Given the description of an element on the screen output the (x, y) to click on. 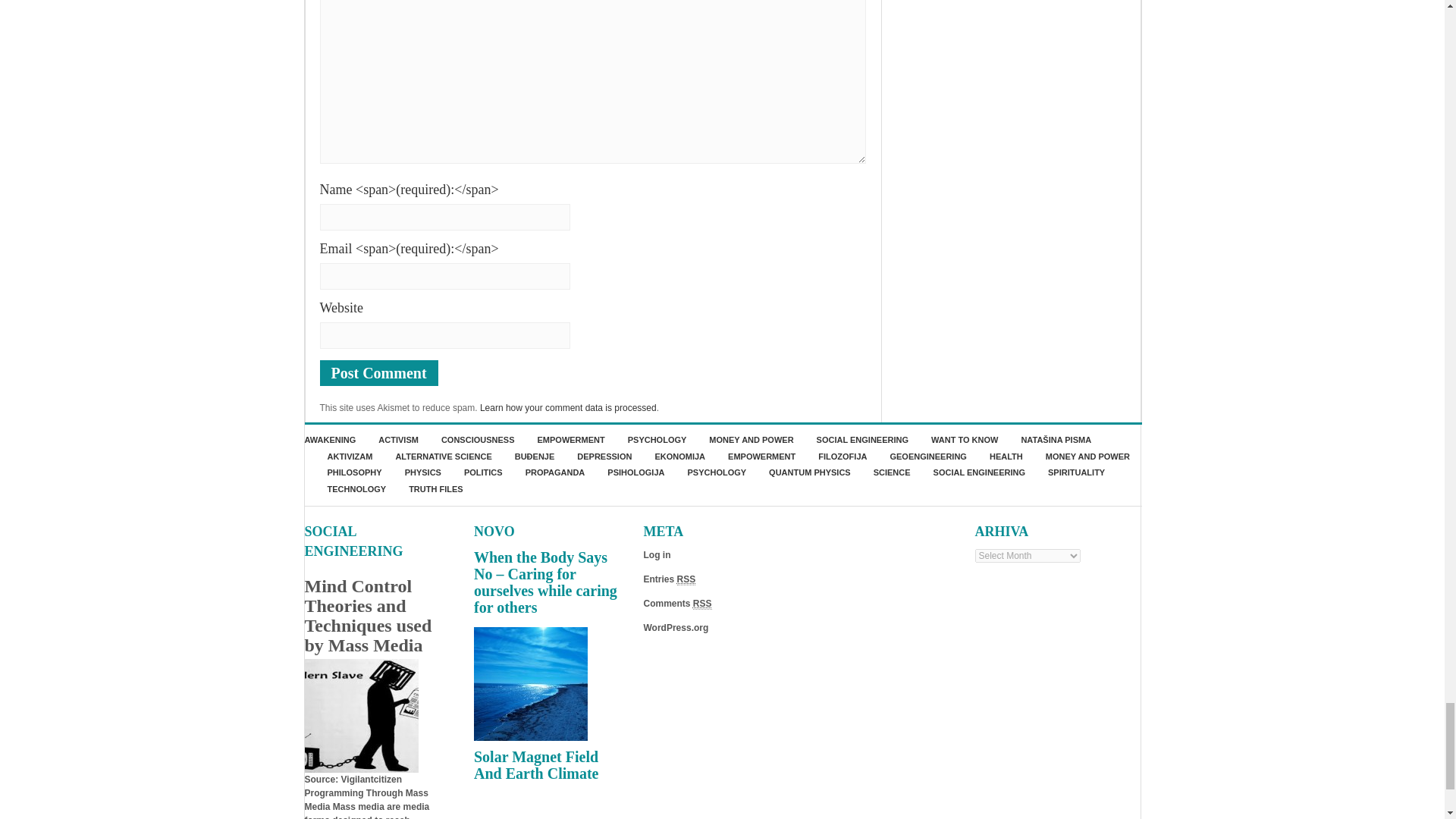
Post Comment (379, 372)
